Given the description of an element on the screen output the (x, y) to click on. 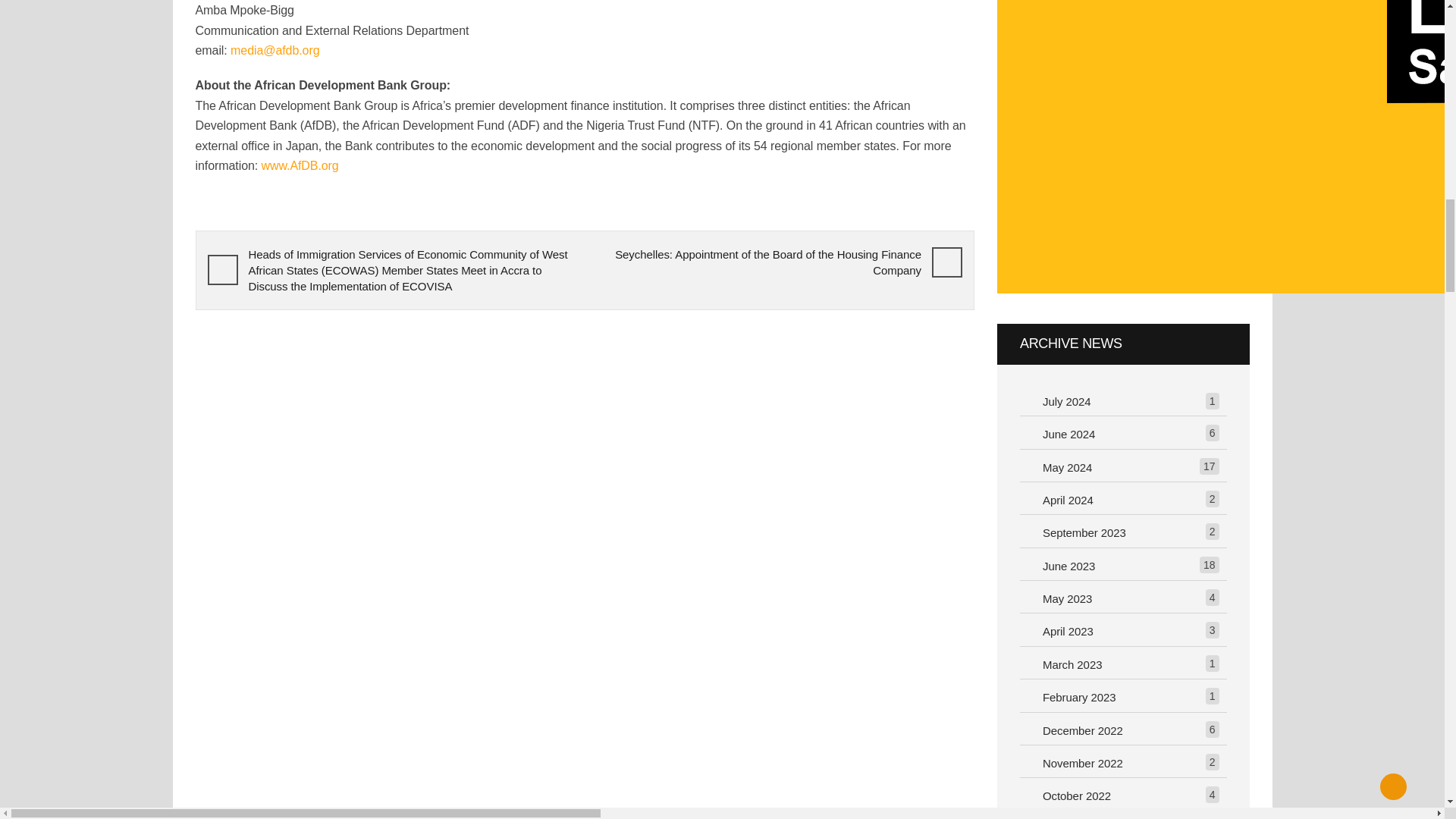
June 2023 (1072, 567)
www.AfDB.org (298, 164)
September 2023 (1088, 533)
May 2024 (1071, 468)
May 2023 (1071, 599)
July 2024 (1070, 402)
June 2024 (1072, 434)
April 2024 (1072, 500)
